Given the description of an element on the screen output the (x, y) to click on. 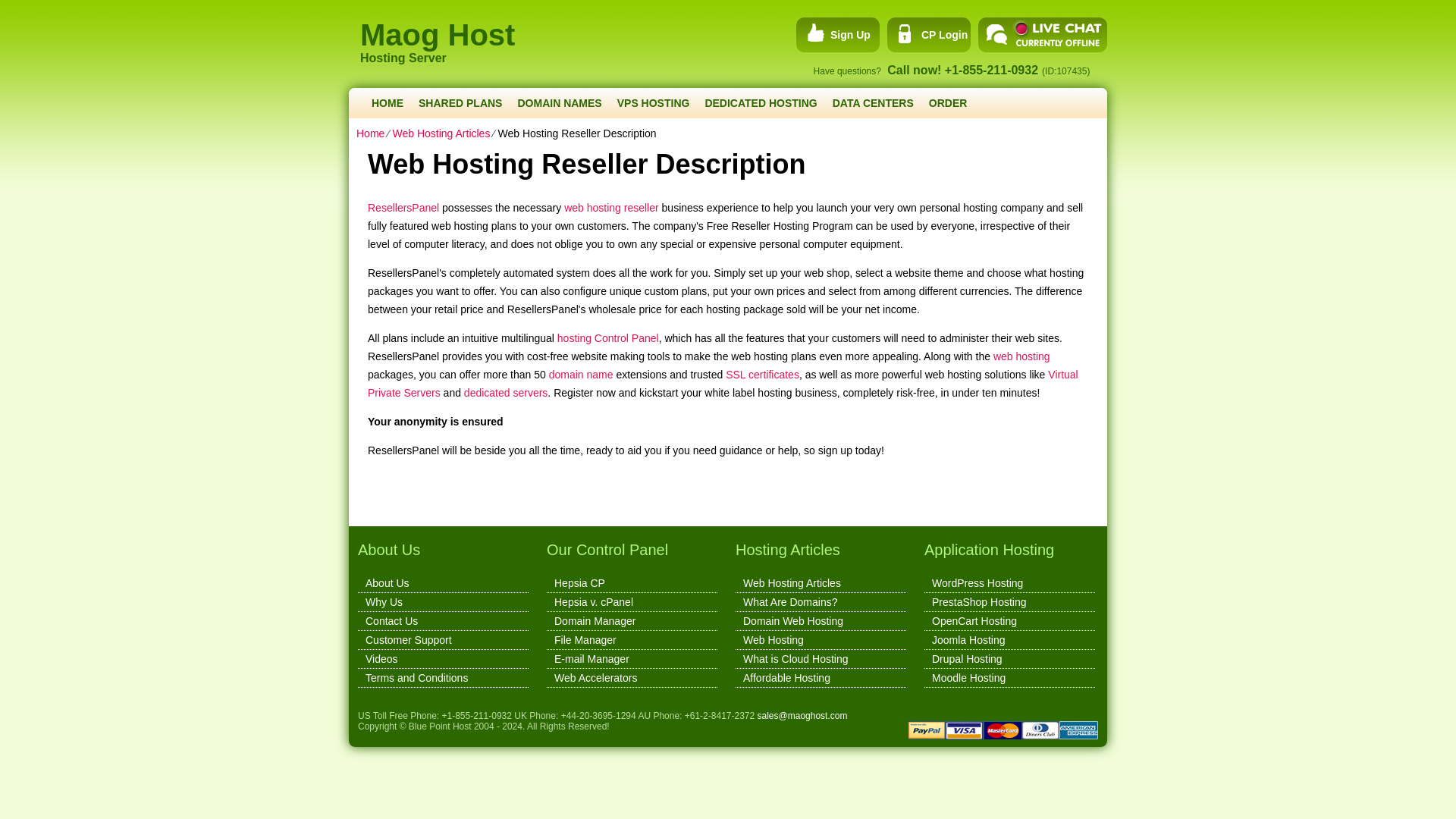
hosting Control Panel (608, 337)
HOME (387, 102)
client login (927, 34)
DEDICATED HOSTING (760, 102)
SHARED PLANS (459, 102)
domain name (580, 374)
sign up (833, 34)
Web Hosting Articles (440, 133)
VPS HOSTING (653, 102)
CP Login (927, 34)
